Given the description of an element on the screen output the (x, y) to click on. 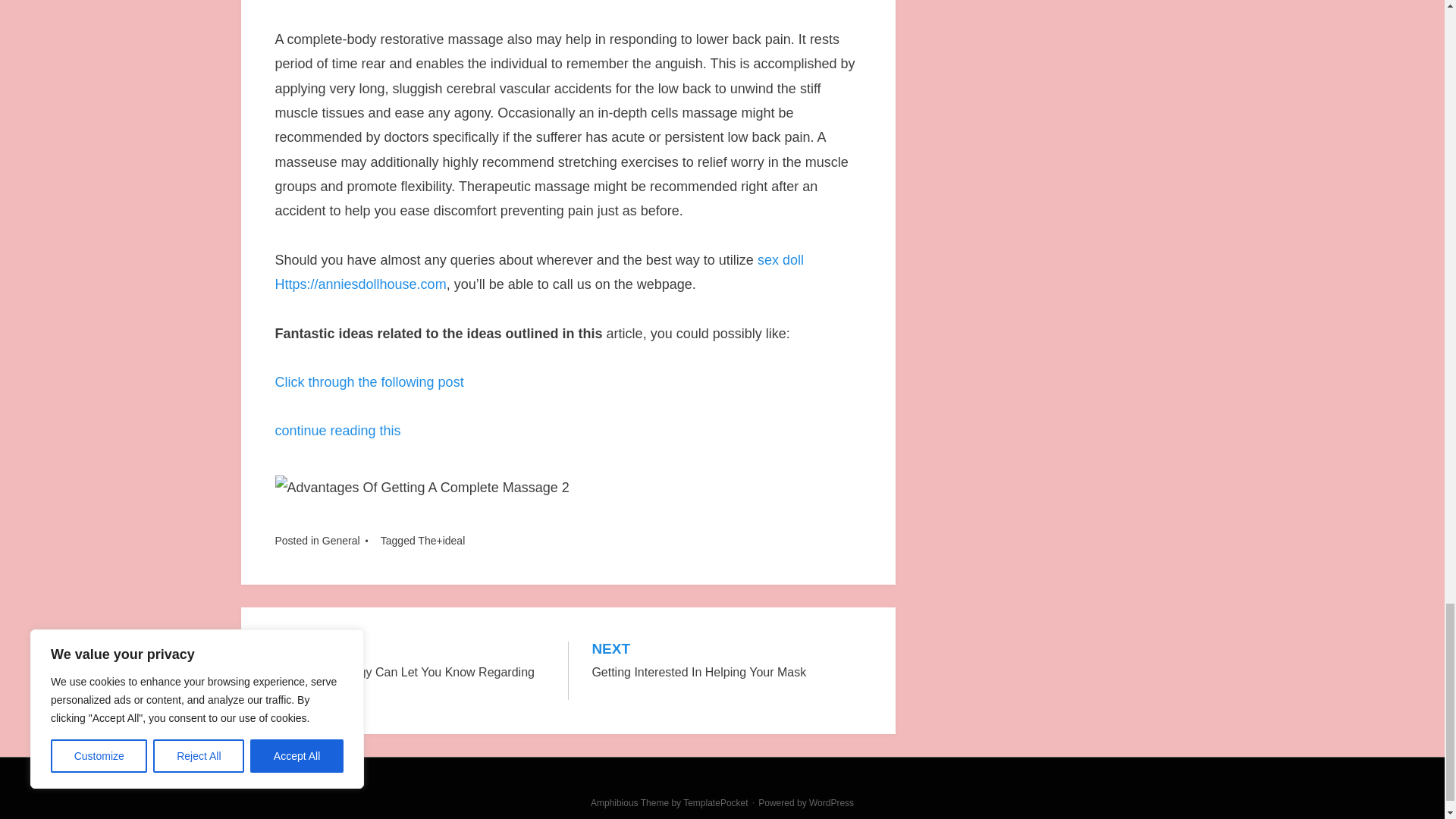
WordPress (831, 802)
continue reading this (337, 430)
General (340, 540)
TemplatePocket (715, 802)
Click through the following post (369, 381)
